Given the description of an element on the screen output the (x, y) to click on. 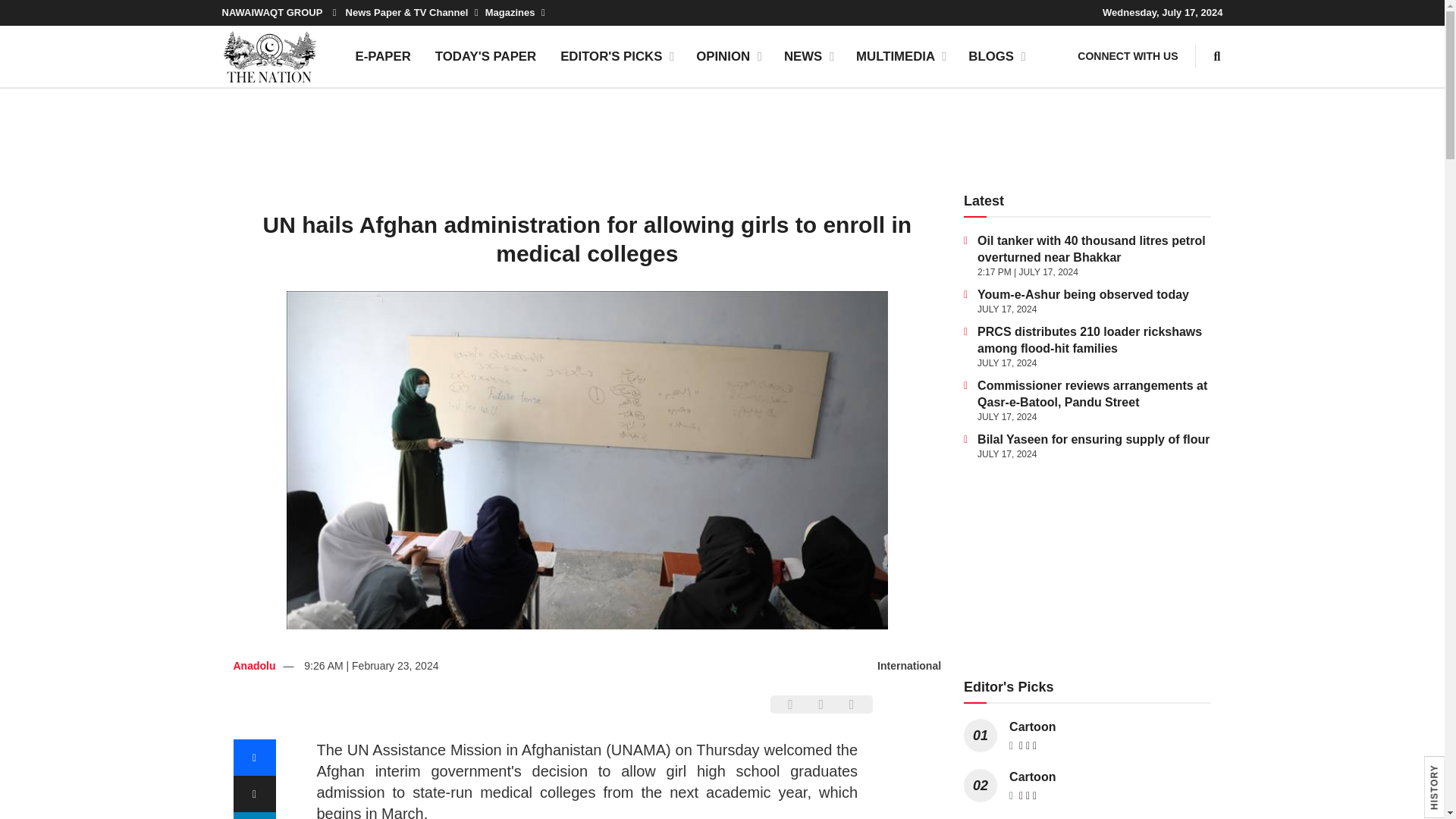
OPINION (727, 55)
Magazines (513, 12)
E-PAPER (382, 55)
NEWS (807, 55)
BLOGS (995, 55)
TODAY'S PAPER (485, 55)
EDITOR'S PICKS (616, 55)
MULTIMEDIA (900, 55)
